Given the description of an element on the screen output the (x, y) to click on. 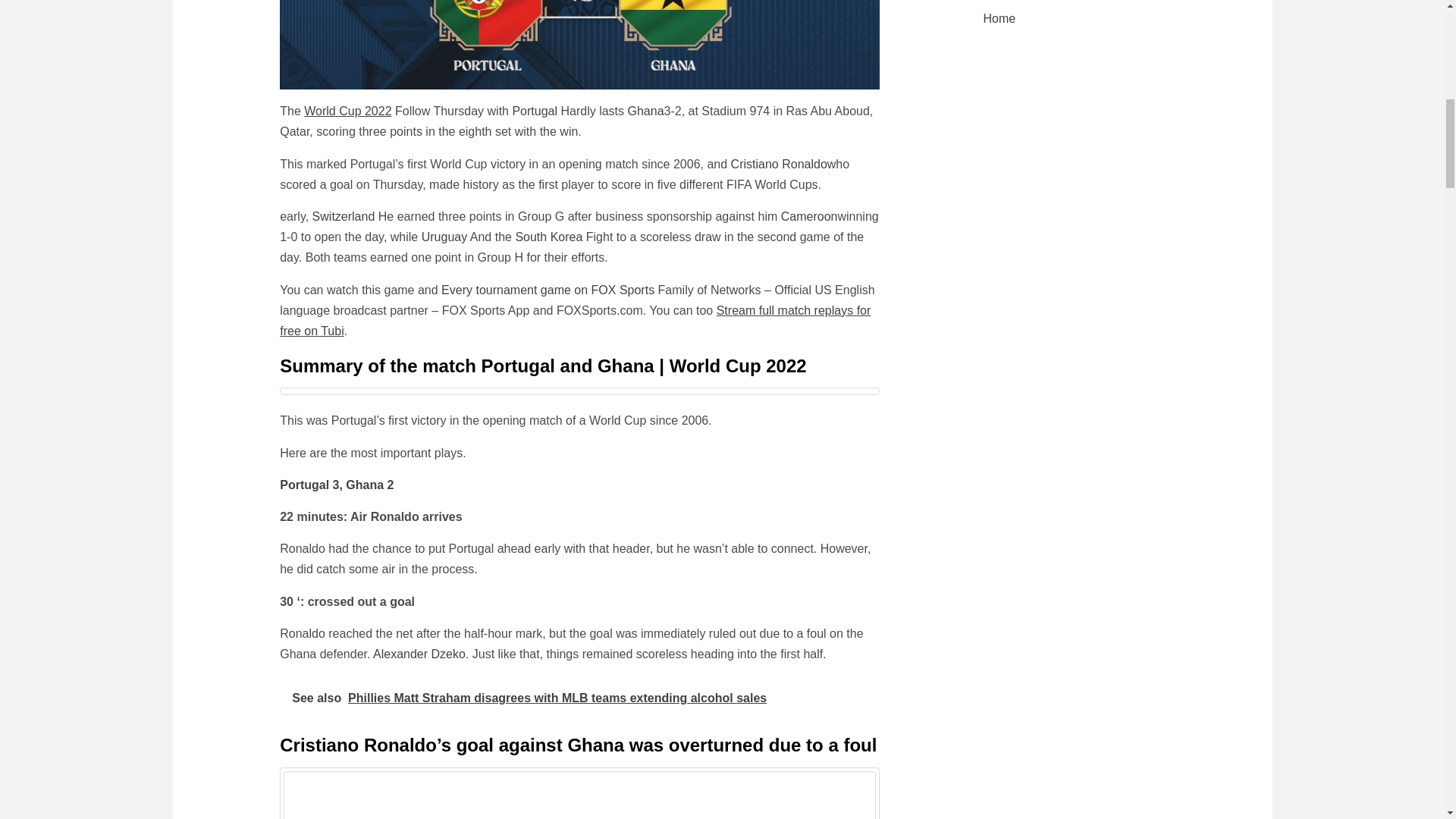
Uruguay (444, 236)
Stream full match replays for free on Tubi (574, 320)
World Cup 2022 (347, 110)
Portugal 3, Ghana 2 (336, 484)
Highlights of the 2022 World Cup: Portugal escaped Ghana 3-2 (579, 44)
Portugal (534, 110)
Cameroon (809, 215)
Cristiano Ronaldo (778, 164)
Every tournament game on FOX Sports (547, 289)
Switzerland (344, 215)
Ghana (645, 110)
South Korea (548, 236)
Alexander Dzeko (418, 653)
